Given the description of an element on the screen output the (x, y) to click on. 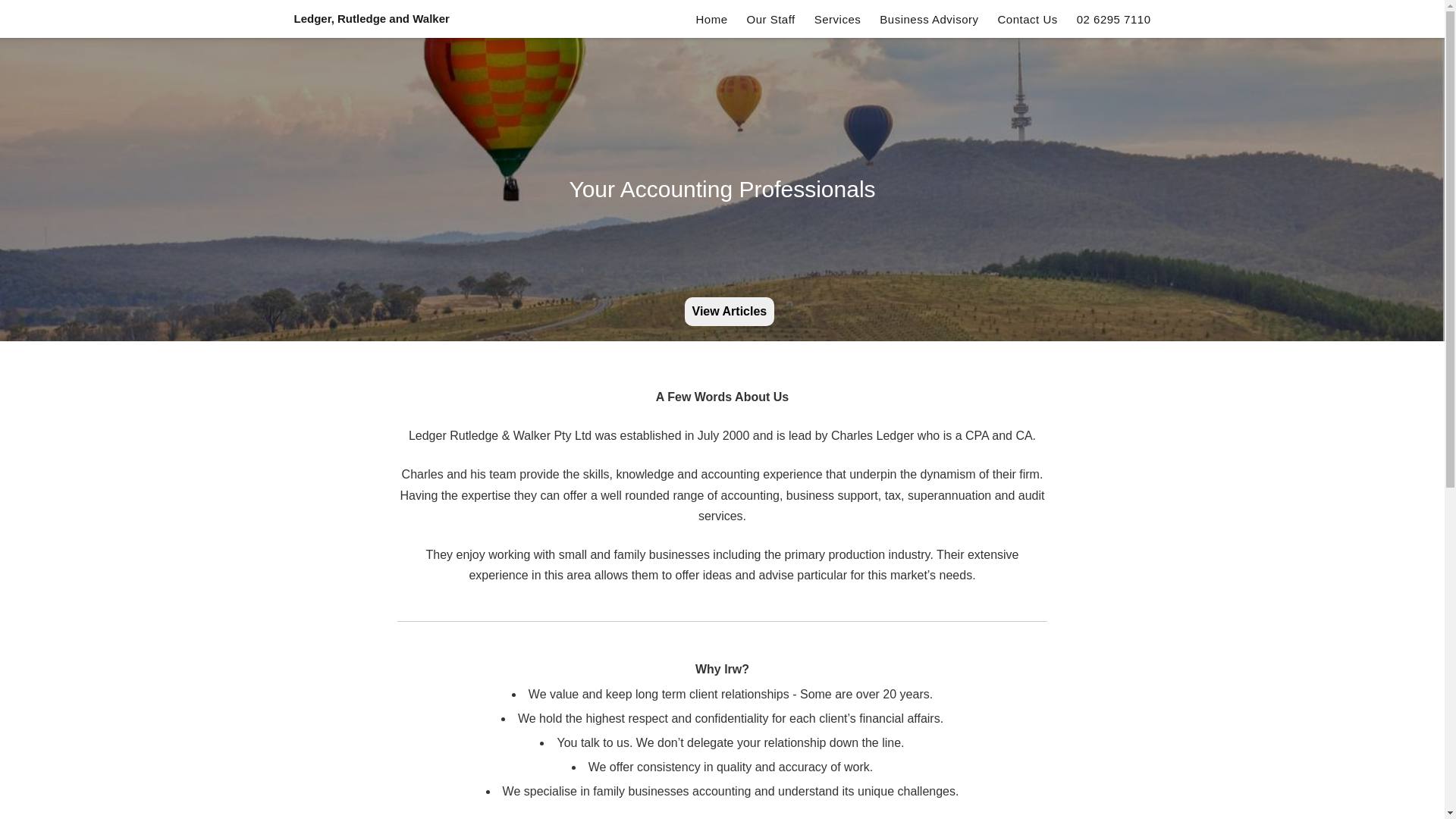
Services Element type: text (837, 19)
Business Advisory Element type: text (928, 19)
Contact Us Element type: text (1027, 19)
Ledger, Rutledge and Walker Element type: text (371, 18)
Home Element type: text (711, 19)
02 6295 7110 Element type: text (1113, 19)
View Articles Element type: text (729, 311)
Our Staff Element type: text (770, 19)
